Given the description of an element on the screen output the (x, y) to click on. 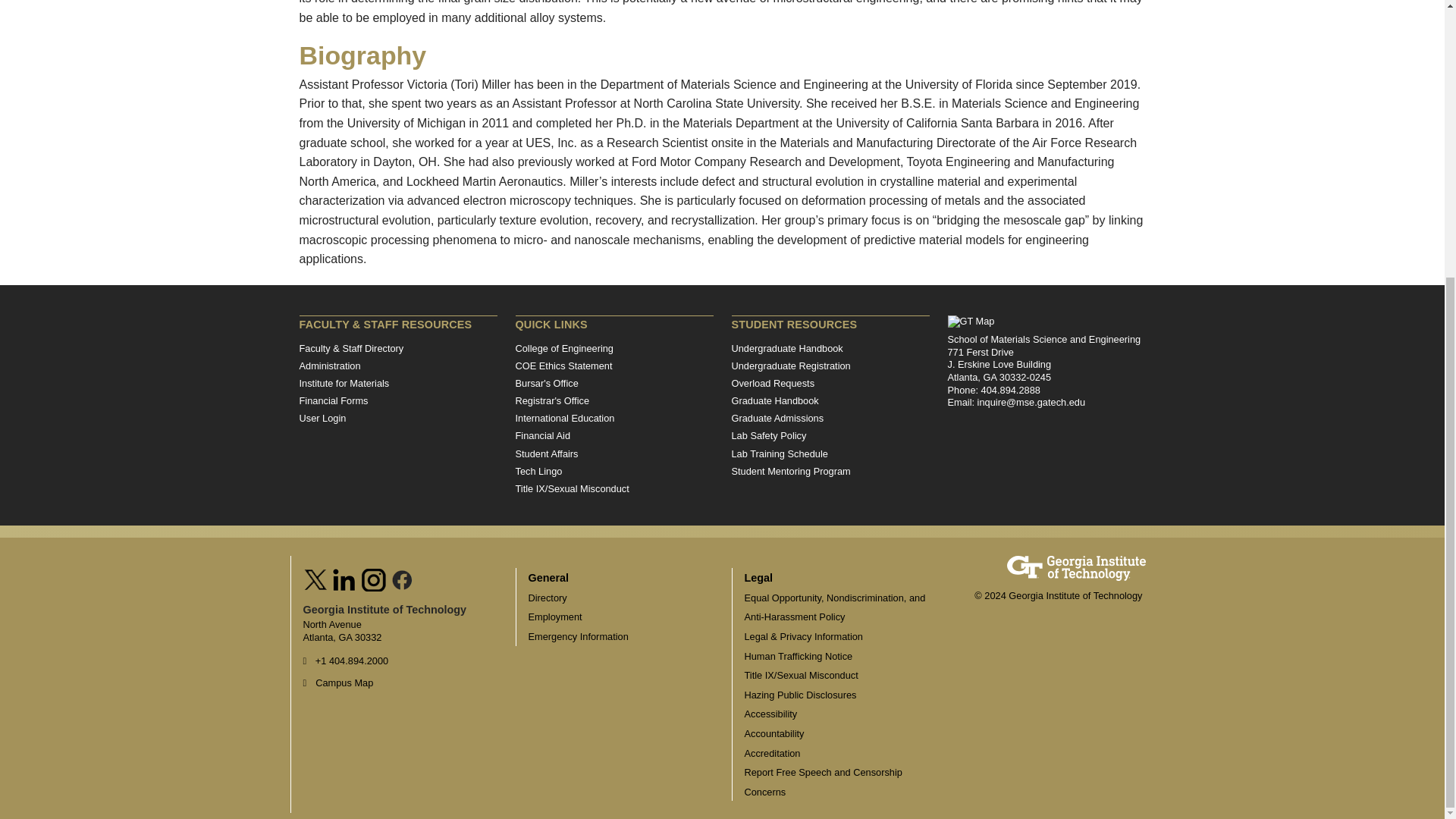
Instagram (374, 577)
LinkedIn (343, 577)
Georgia Tech (1076, 562)
Twitter (316, 577)
RSS (402, 577)
